Given the description of an element on the screen output the (x, y) to click on. 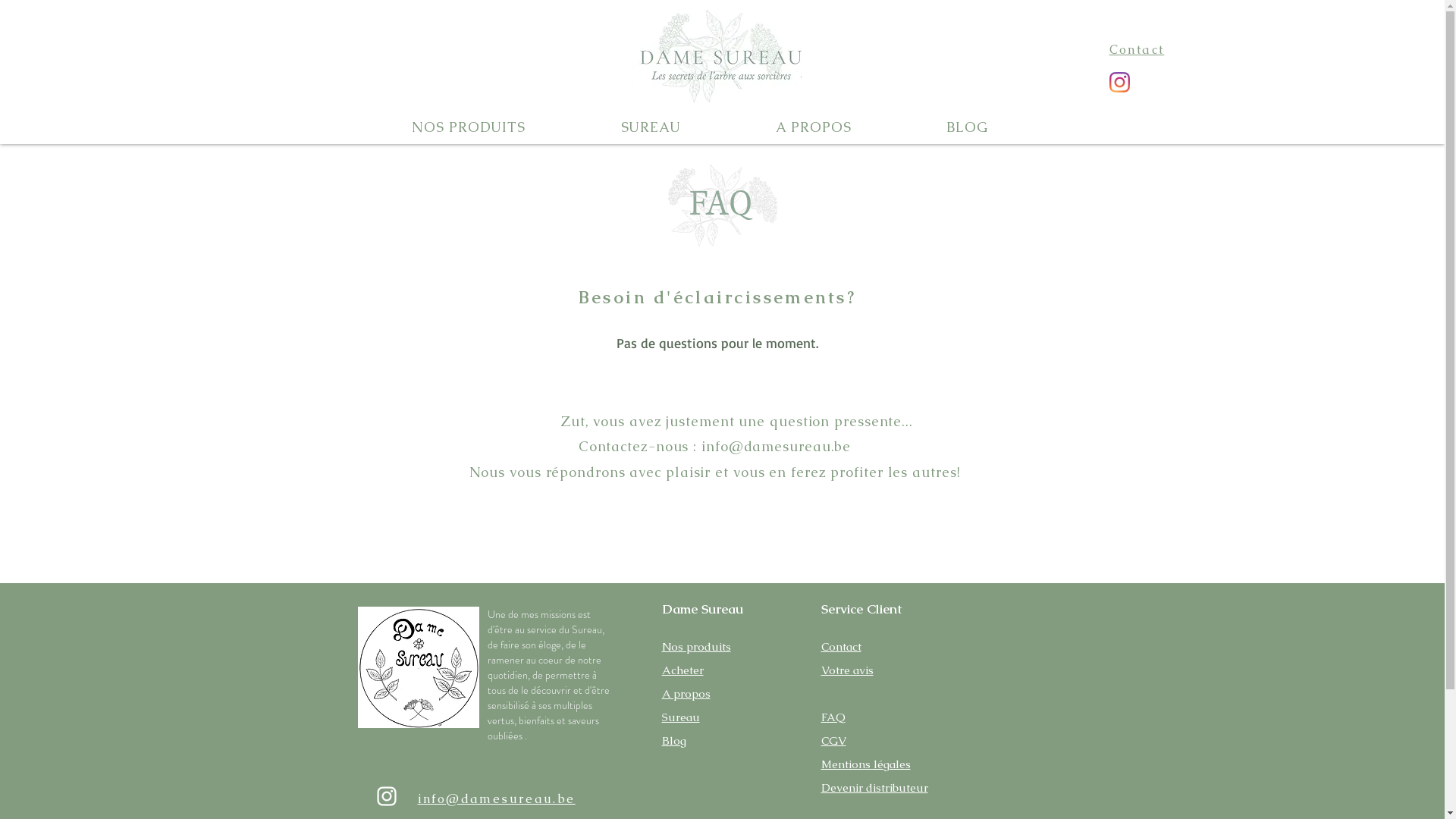
Acheter Element type: text (681, 669)
CGV Element type: text (832, 739)
Sureau Element type: text (680, 716)
FAQ Element type: text (832, 716)
NOS PRODUITS Element type: text (468, 126)
info@damesureau.be Element type: text (495, 799)
Votre avis Element type: text (846, 669)
Contact Element type: text (840, 645)
BLOG Element type: text (966, 126)
Nos produits Element type: text (695, 645)
Devenir distributeur Element type: text (873, 786)
SUREAU Element type: text (650, 126)
info@damesureau.be Element type: text (775, 446)
A propos Element type: text (685, 692)
A PROPOS Element type: text (813, 126)
Blog Element type: text (673, 739)
Contact Element type: text (1136, 50)
